Given the description of an element on the screen output the (x, y) to click on. 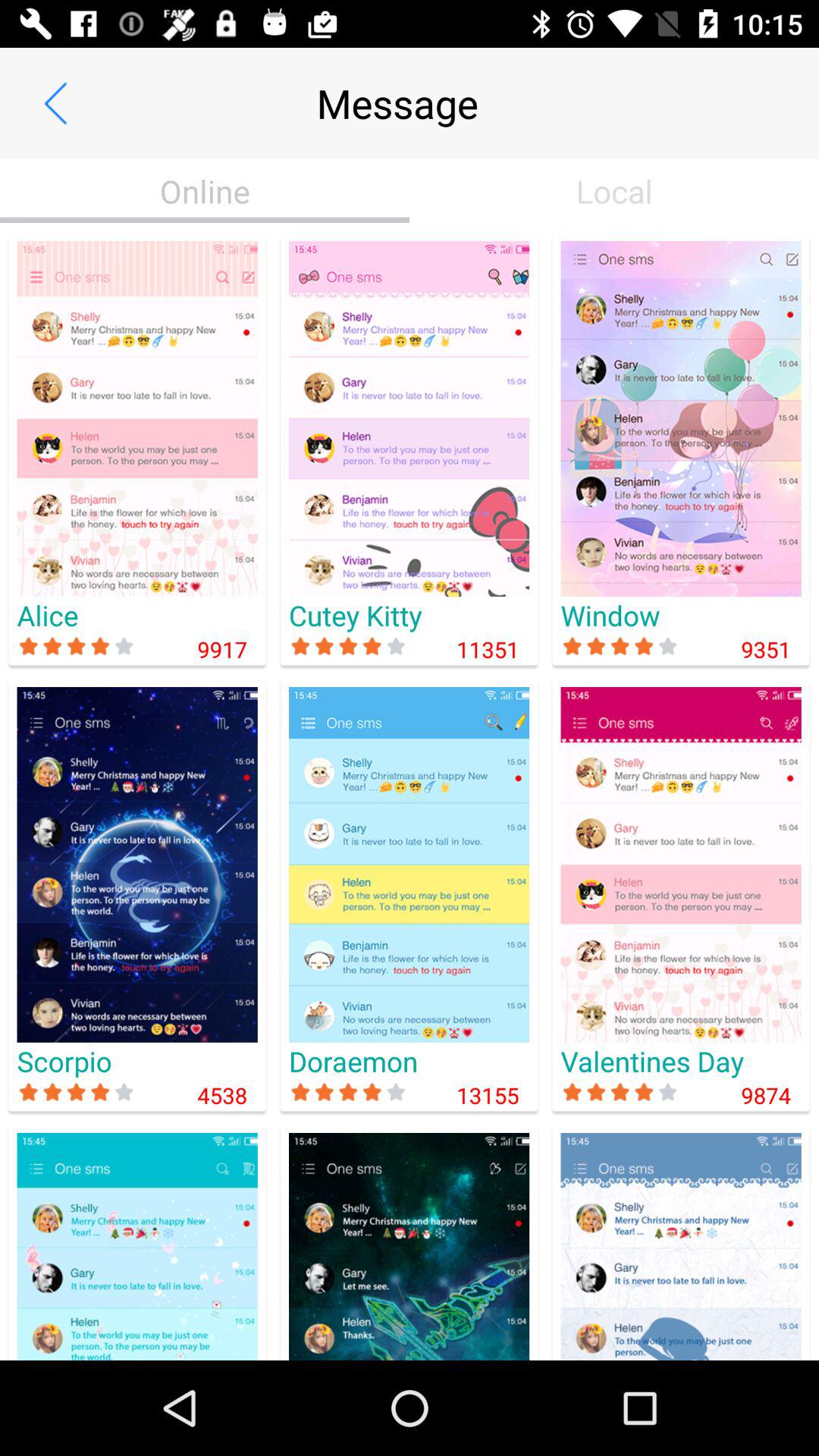
turn off item above the online item (55, 103)
